Given the description of an element on the screen output the (x, y) to click on. 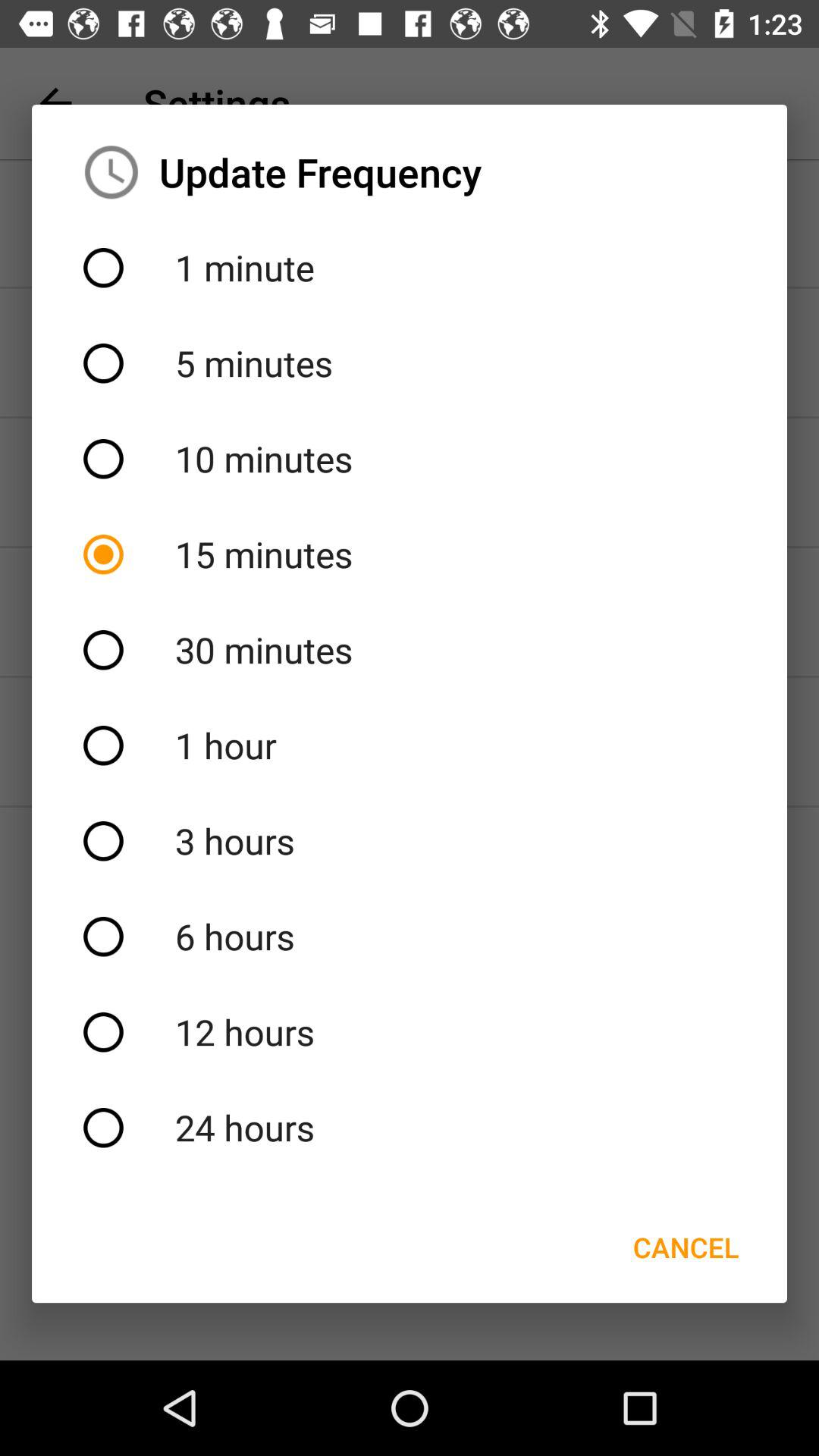
select the 15 minutes item (409, 554)
